Given the description of an element on the screen output the (x, y) to click on. 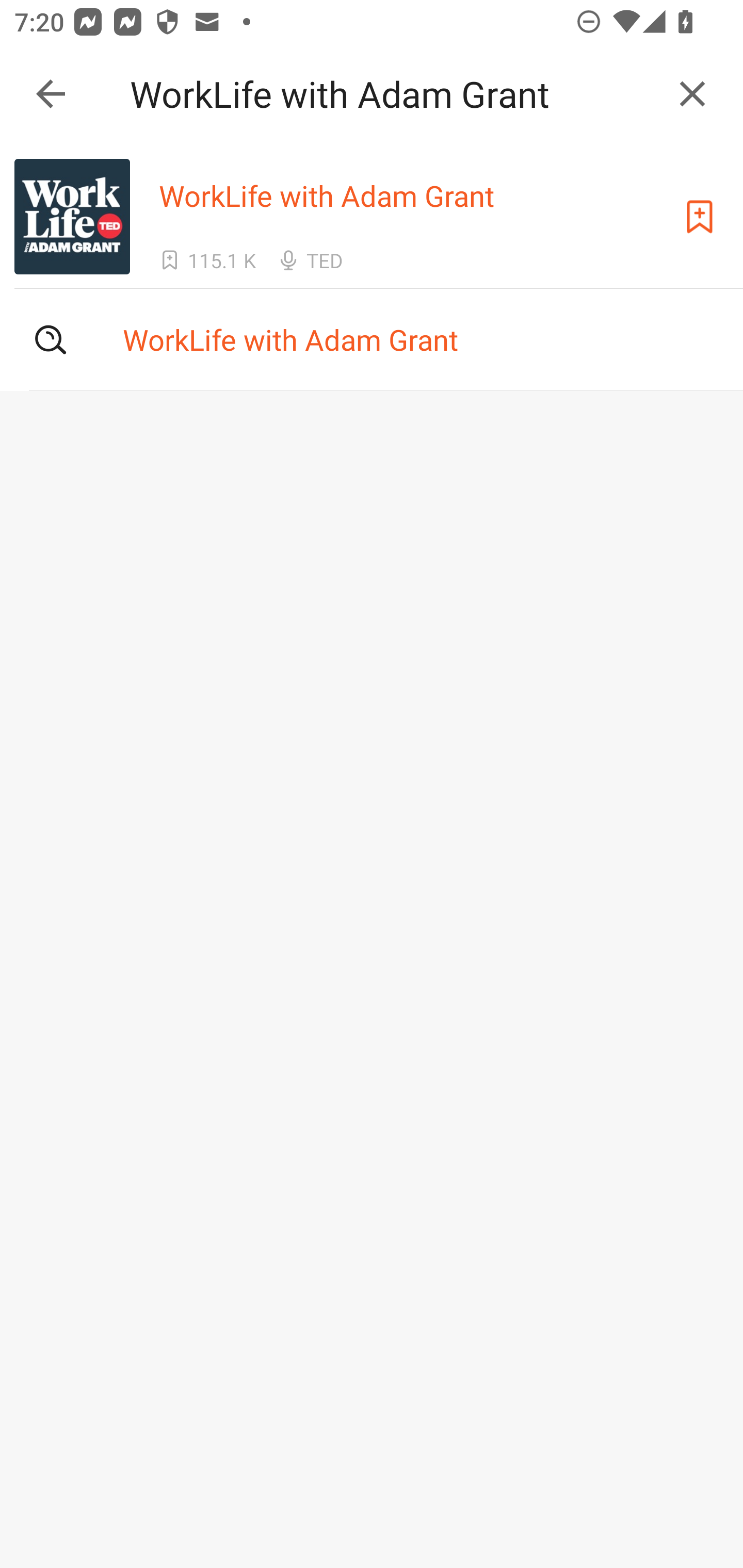
Collapse (50, 93)
Clear query (692, 93)
WorkLife with Adam Grant (393, 94)
Subscribe (699, 216)
 WorkLife with Adam Grant (371, 339)
